Given the description of an element on the screen output the (x, y) to click on. 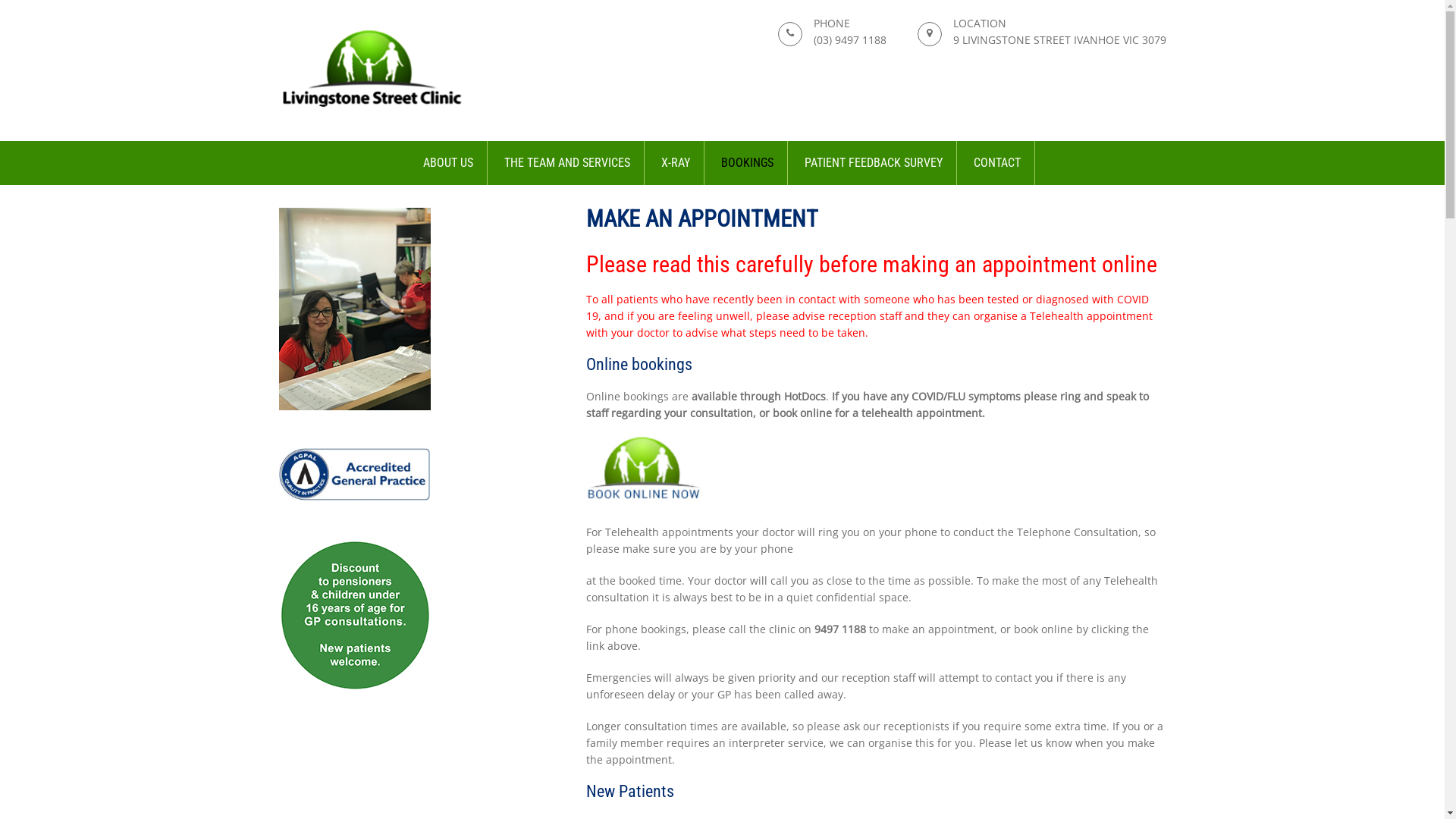
PATIENT FEEDBACK SURVEY Element type: text (873, 163)
BOOKINGS Element type: text (747, 163)
THE TEAM AND SERVICES Element type: text (567, 163)
X-RAY Element type: text (675, 163)
CONTACT Element type: text (997, 163)
ABOUT US Element type: text (448, 163)
